Given the description of an element on the screen output the (x, y) to click on. 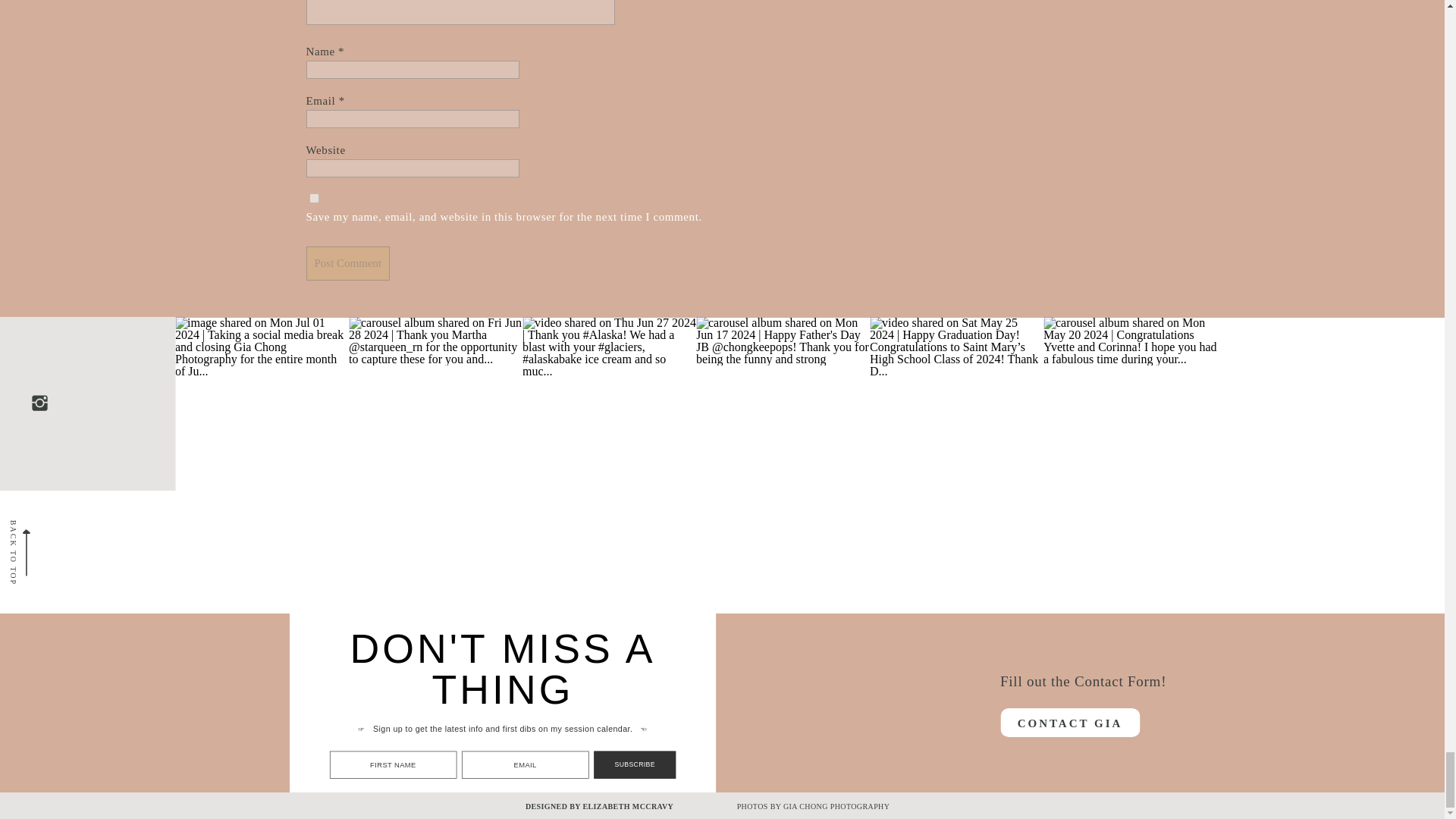
SUBSCRIBE (655, 771)
CONTACT GIA (1070, 721)
Post Comment (347, 263)
yes (313, 198)
Post Comment (347, 263)
BACK TO TOP (57, 506)
